Given the description of an element on the screen output the (x, y) to click on. 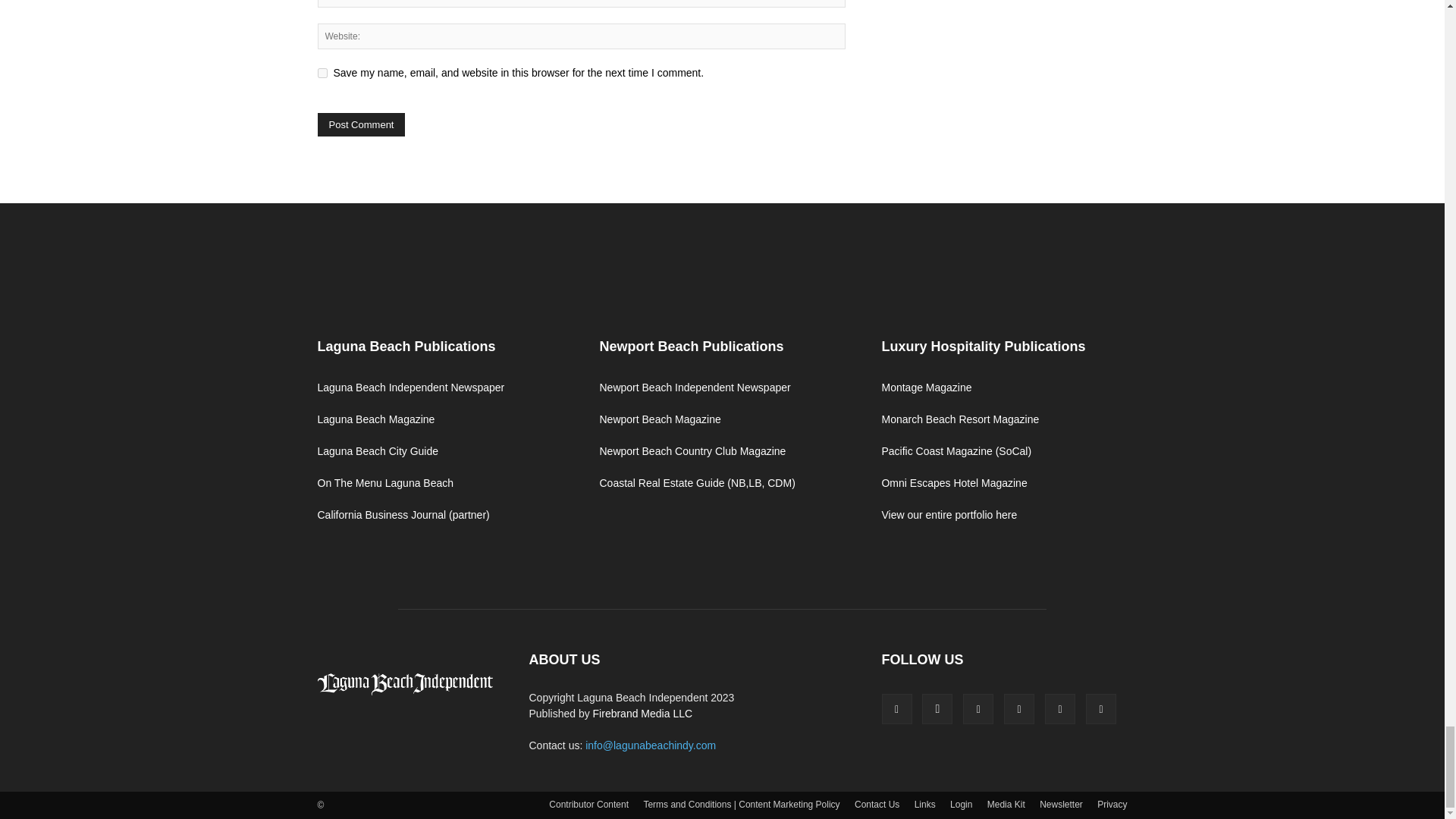
Post Comment (360, 124)
yes (321, 72)
